Given the description of an element on the screen output the (x, y) to click on. 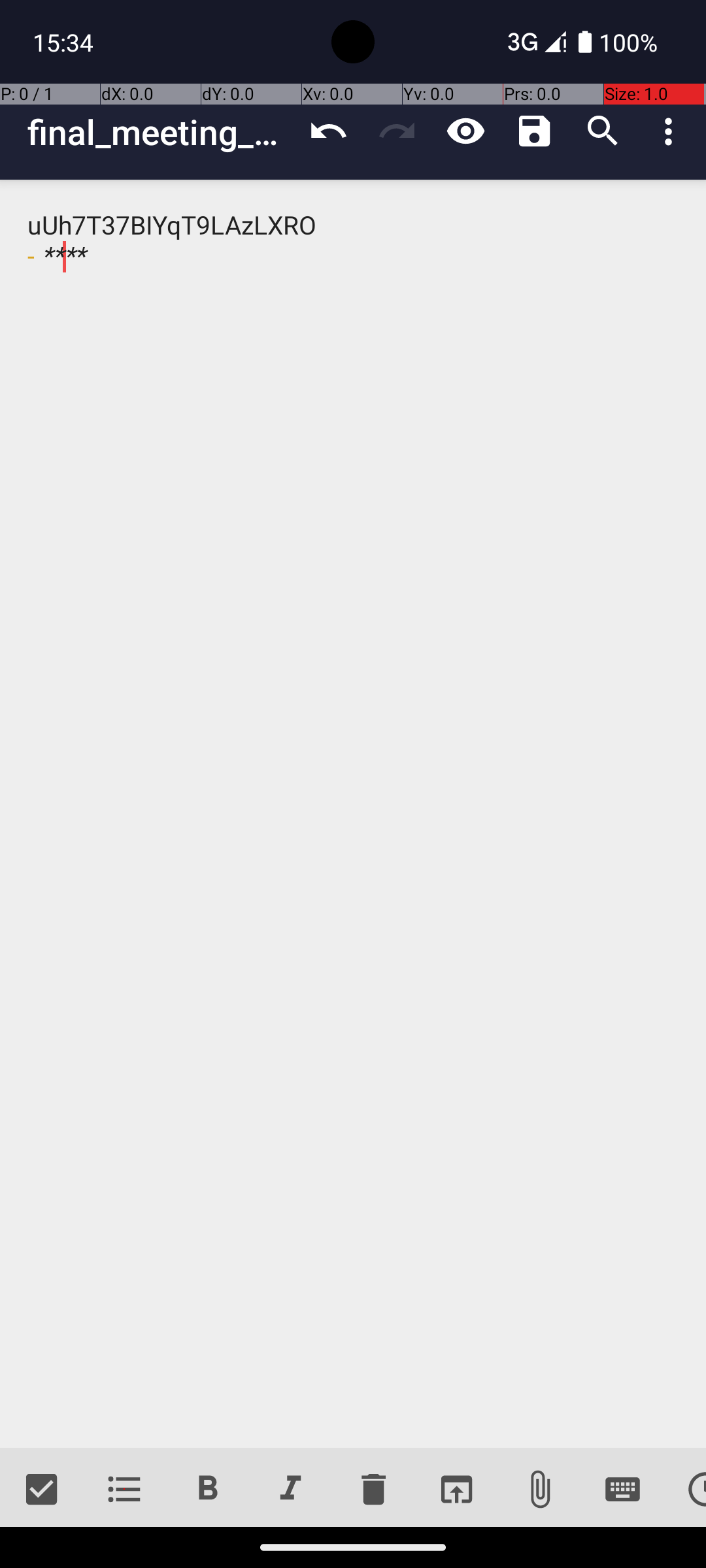
final_meeting_notes_project_team Element type: android.widget.TextView (160, 131)
uUh7T37BIYqT9LAzLXRO
**** Element type: android.widget.EditText (353, 813)
